Given the description of an element on the screen output the (x, y) to click on. 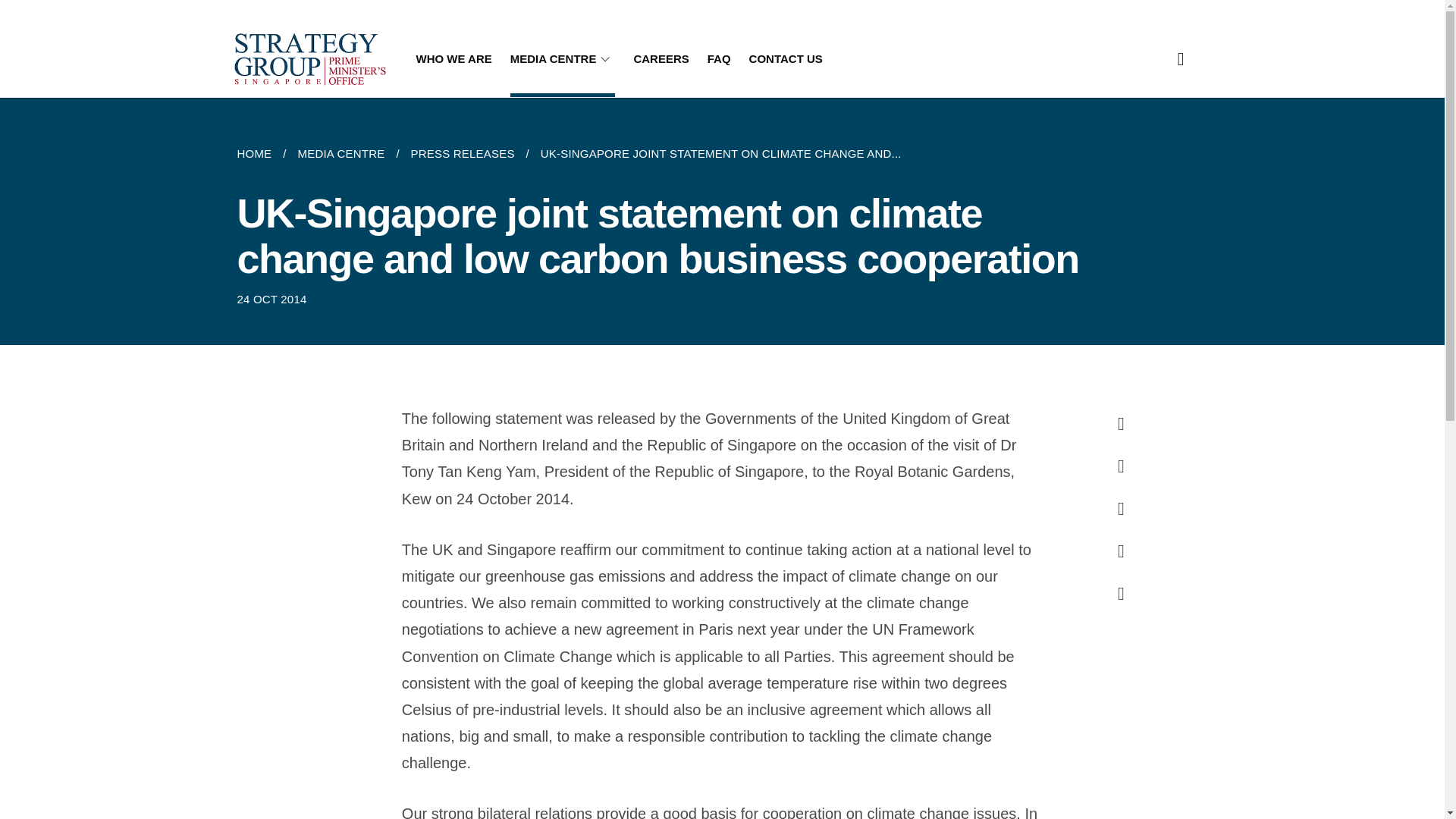
UK-SINGAPORE JOINT STATEMENT ON CLIMATE CHANGE AND... (720, 153)
MEDIA CENTRE (340, 153)
PRESS RELEASES (461, 153)
WHO WE ARE (453, 59)
CONTACT US (785, 59)
MEDIA CENTRE (563, 59)
HOME (258, 153)
